Given the description of an element on the screen output the (x, y) to click on. 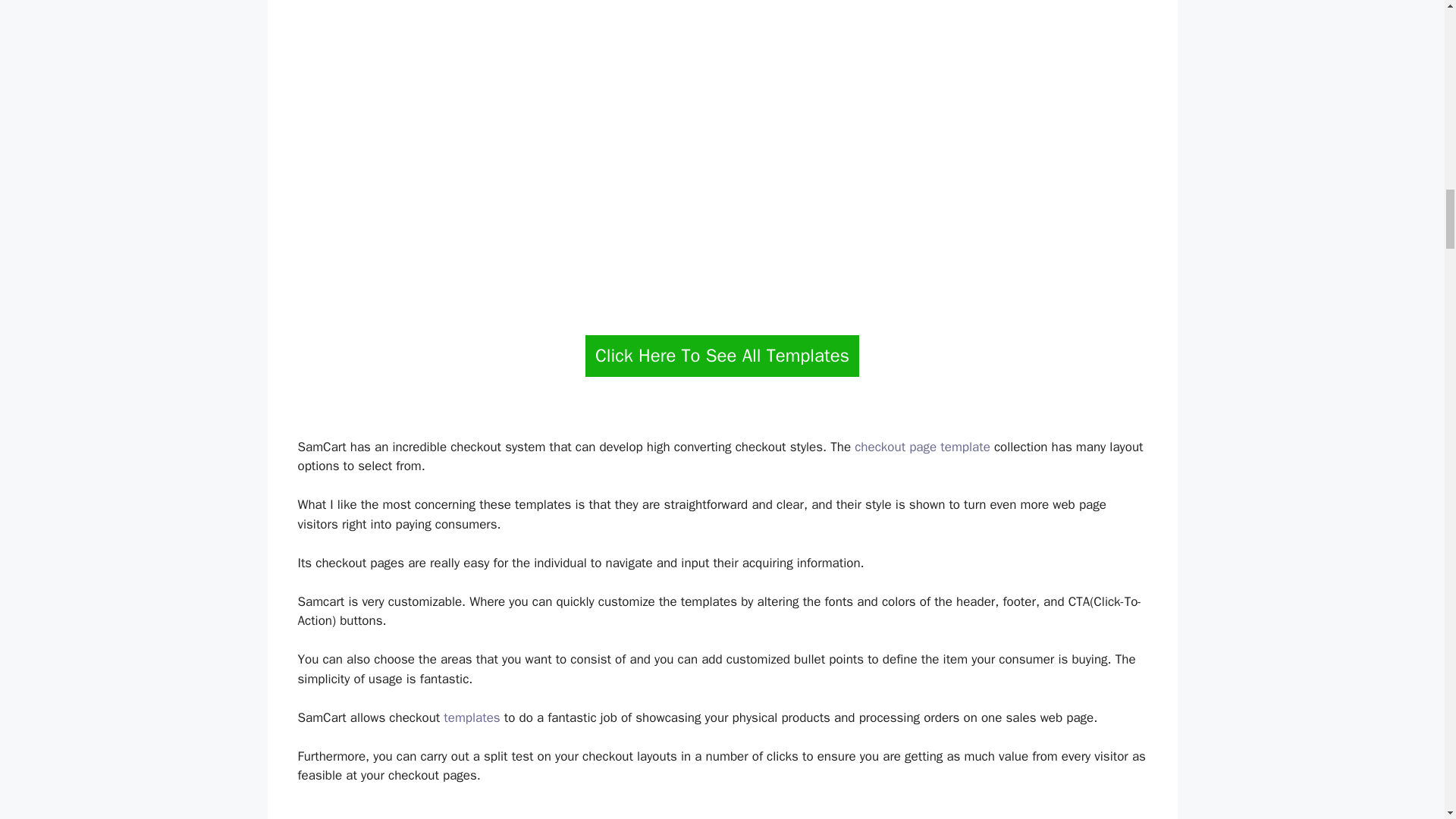
templates (471, 717)
Click Here To See All Templates (722, 355)
checkout page template (922, 446)
